Given the description of an element on the screen output the (x, y) to click on. 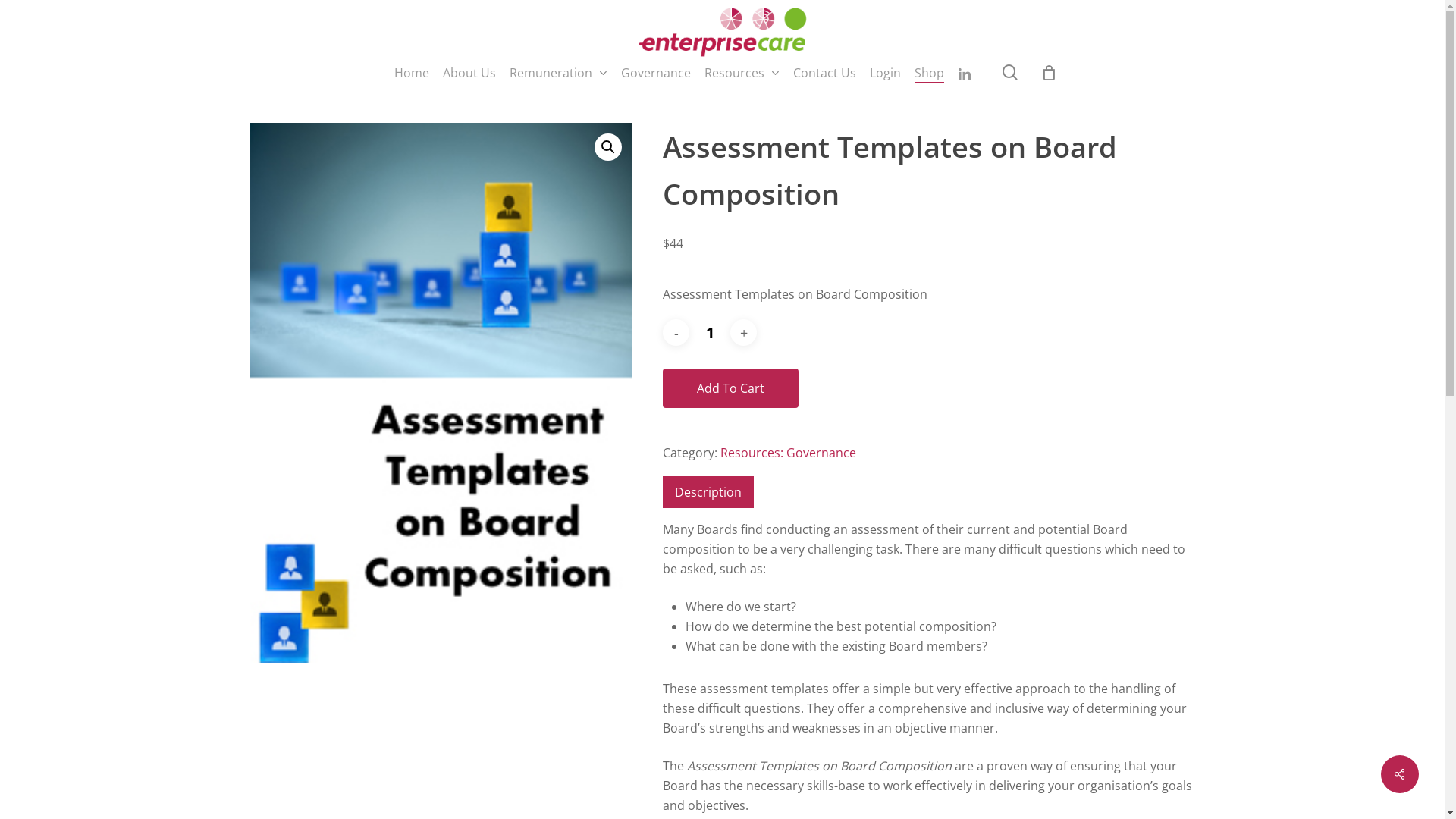
Assessment_Templates_on_Board_Composition_Shop Element type: hover (441, 392)
Description Element type: text (707, 492)
linkedin Element type: text (964, 72)
Resources: Governance Element type: text (788, 452)
Login Element type: text (884, 72)
About Us Element type: text (468, 72)
Contact Us Element type: text (824, 72)
Resources Element type: text (741, 72)
Home Element type: text (411, 72)
search Element type: text (1010, 72)
Shop Element type: text (929, 72)
Add To Cart Element type: text (730, 387)
Governance Element type: text (655, 72)
Remuneration Element type: text (558, 72)
